Given the description of an element on the screen output the (x, y) to click on. 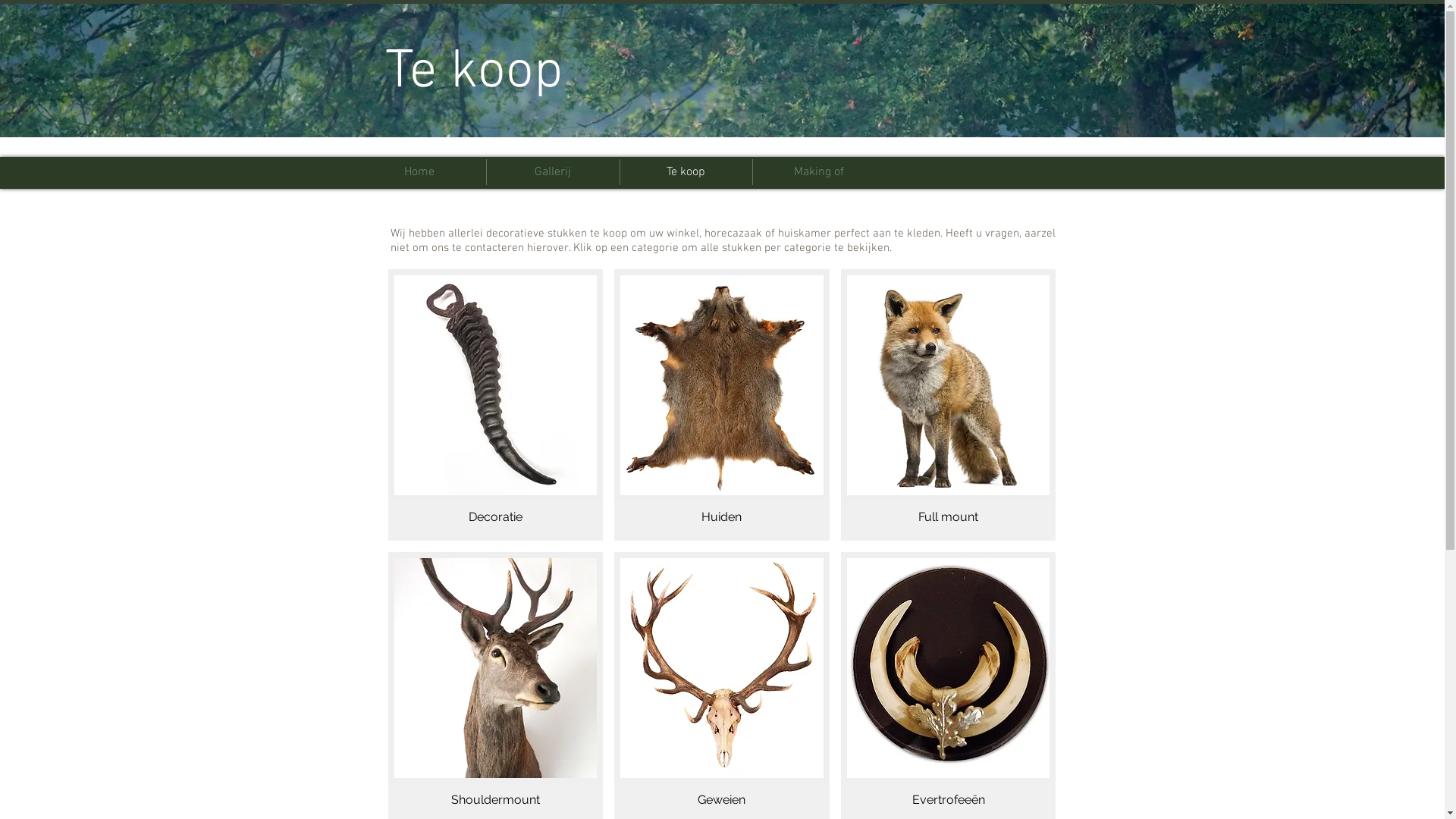
Making of Element type: text (818, 172)
Decoratie Element type: text (495, 404)
Home Element type: text (418, 172)
Huiden Element type: text (721, 404)
Full mount Element type: text (948, 404)
Te koop Element type: text (686, 172)
Gallerij Element type: text (552, 172)
